Given the description of an element on the screen output the (x, y) to click on. 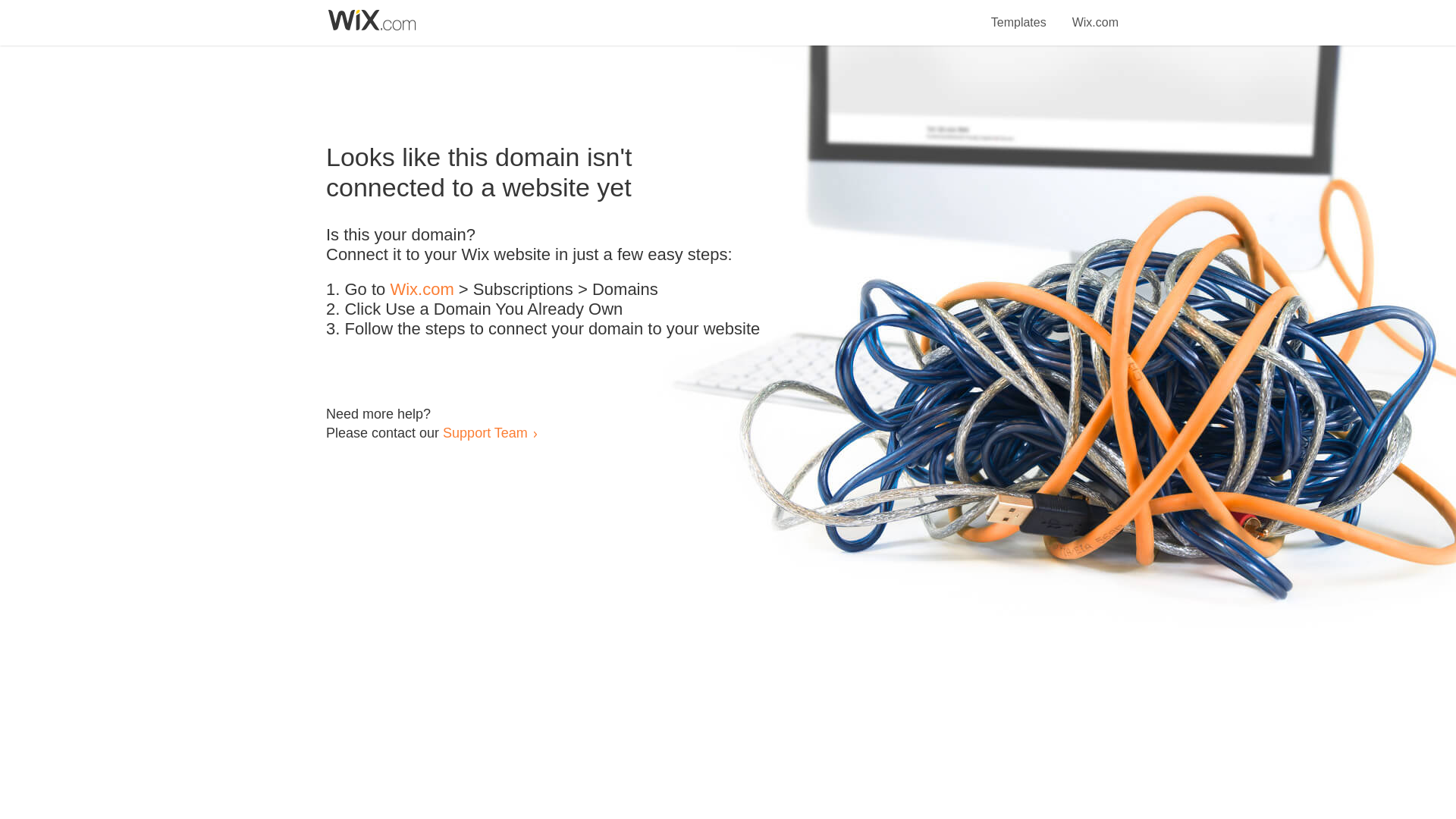
Wix.com (421, 289)
Wix.com (1095, 14)
Templates (1018, 14)
Support Team (484, 432)
